Given the description of an element on the screen output the (x, y) to click on. 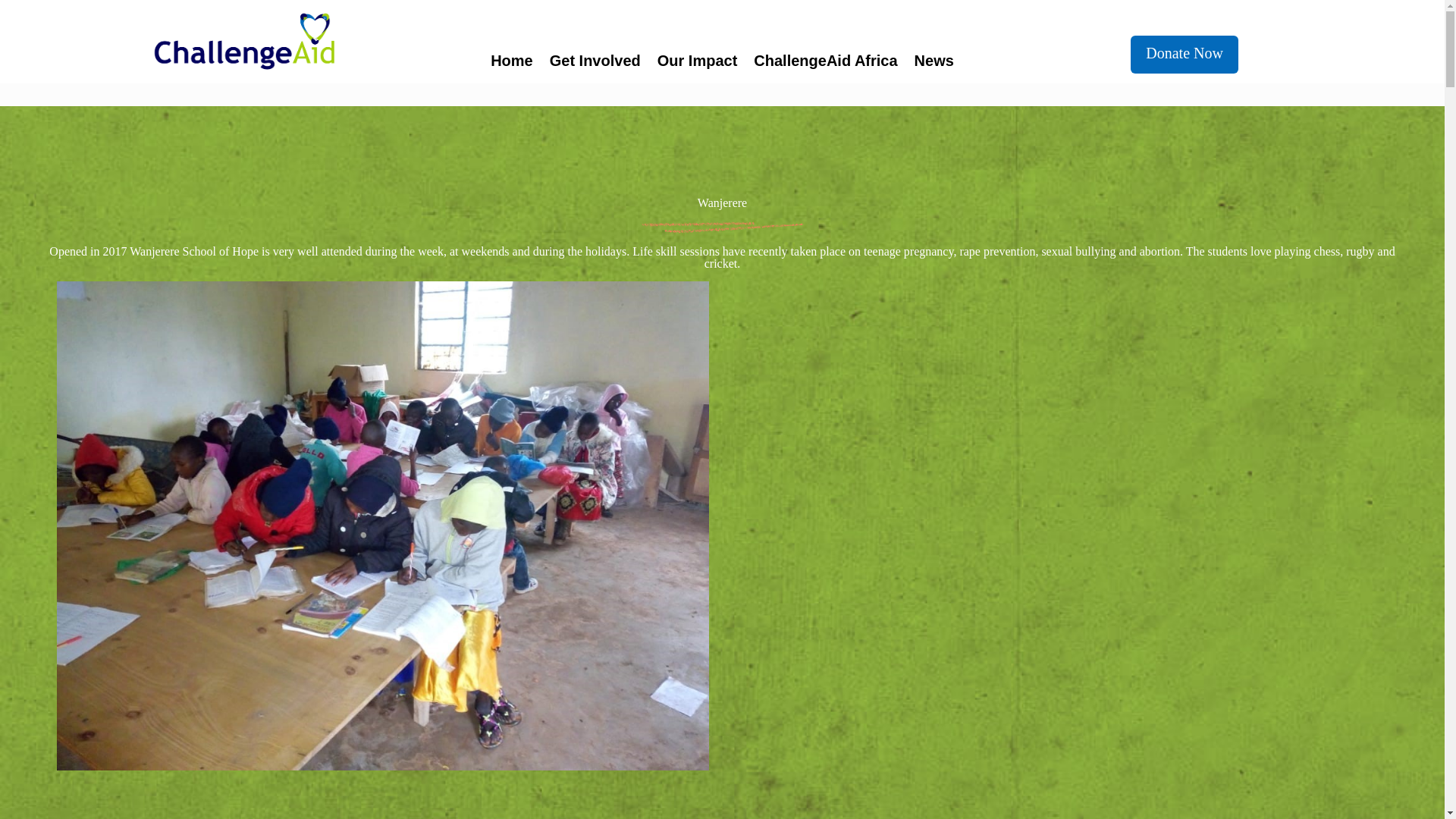
Our Impact (698, 63)
News (933, 63)
Home (511, 63)
Donate Now (1185, 54)
Get Involved (595, 63)
ChallengeAid Africa (825, 63)
